Given the description of an element on the screen output the (x, y) to click on. 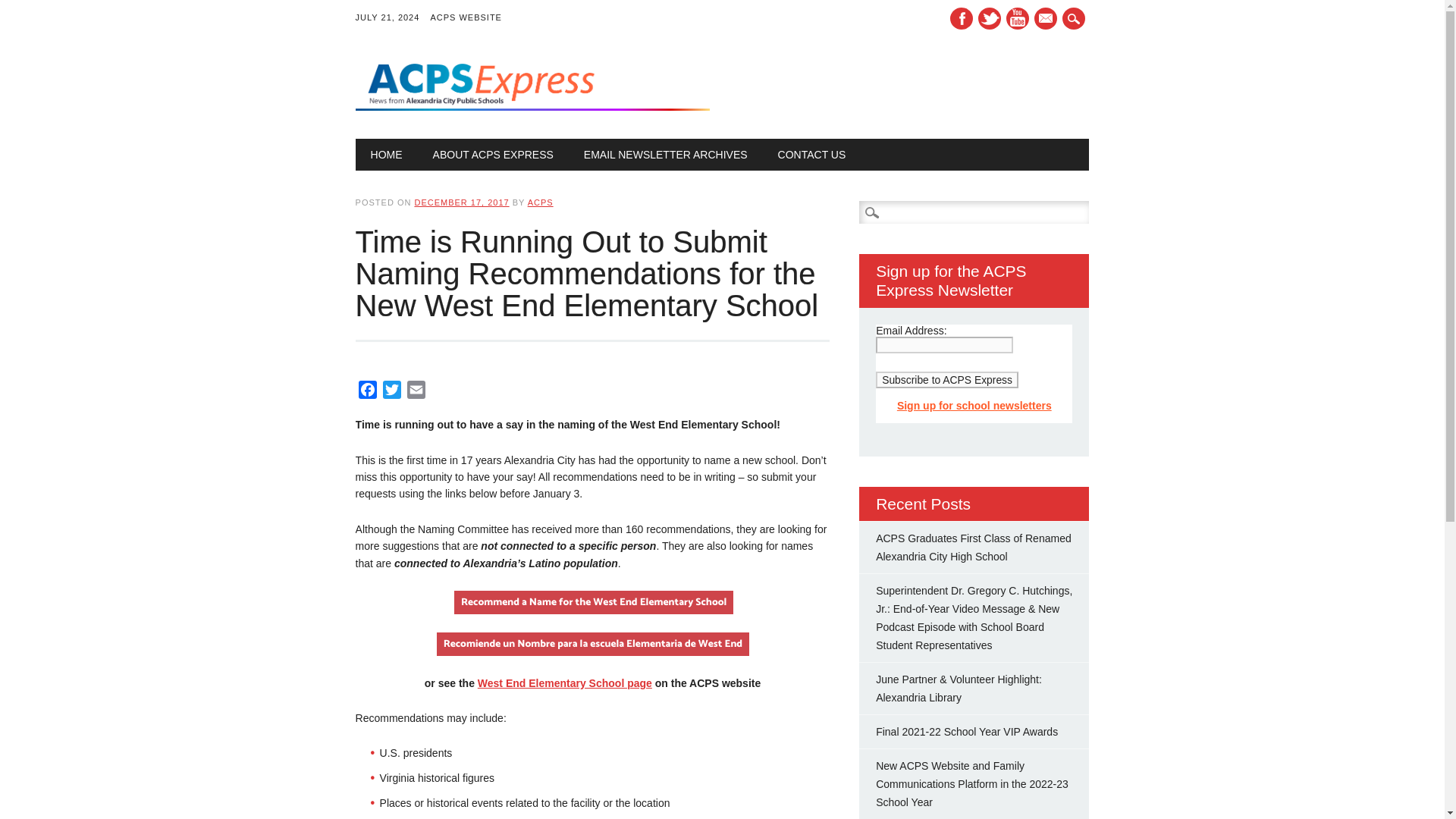
Facebook (367, 392)
Twitter (989, 18)
DECEMBER 17, 2017 (460, 202)
Youtube (1017, 18)
Subscribe to ACPS Express (946, 379)
8:00 pm (460, 202)
Twitter (392, 392)
Facebook (961, 18)
Twitter (392, 392)
Subscribe to ACPS Express (946, 379)
Final 2021-22 School Year VIP Awards (967, 731)
View all posts by ACPS (540, 202)
ACPS Express (532, 106)
Email (416, 392)
